Given the description of an element on the screen output the (x, y) to click on. 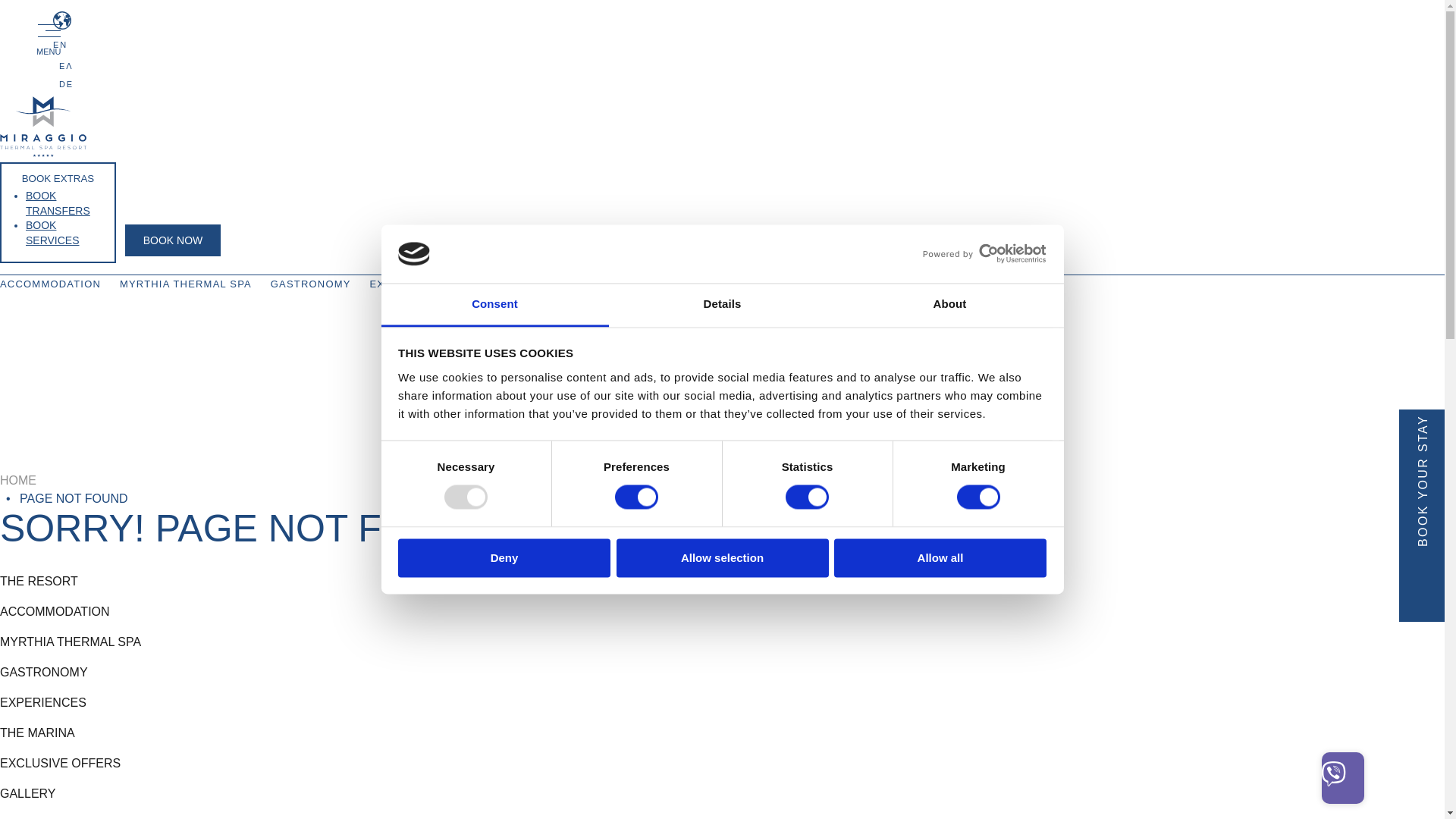
Details (721, 304)
Allow all (940, 557)
Allow selection (721, 557)
Consent (494, 304)
Miraggio Thermal Spa Resort (42, 152)
About (948, 304)
BOOK NOW (173, 240)
Deny (503, 557)
